Given the description of an element on the screen output the (x, y) to click on. 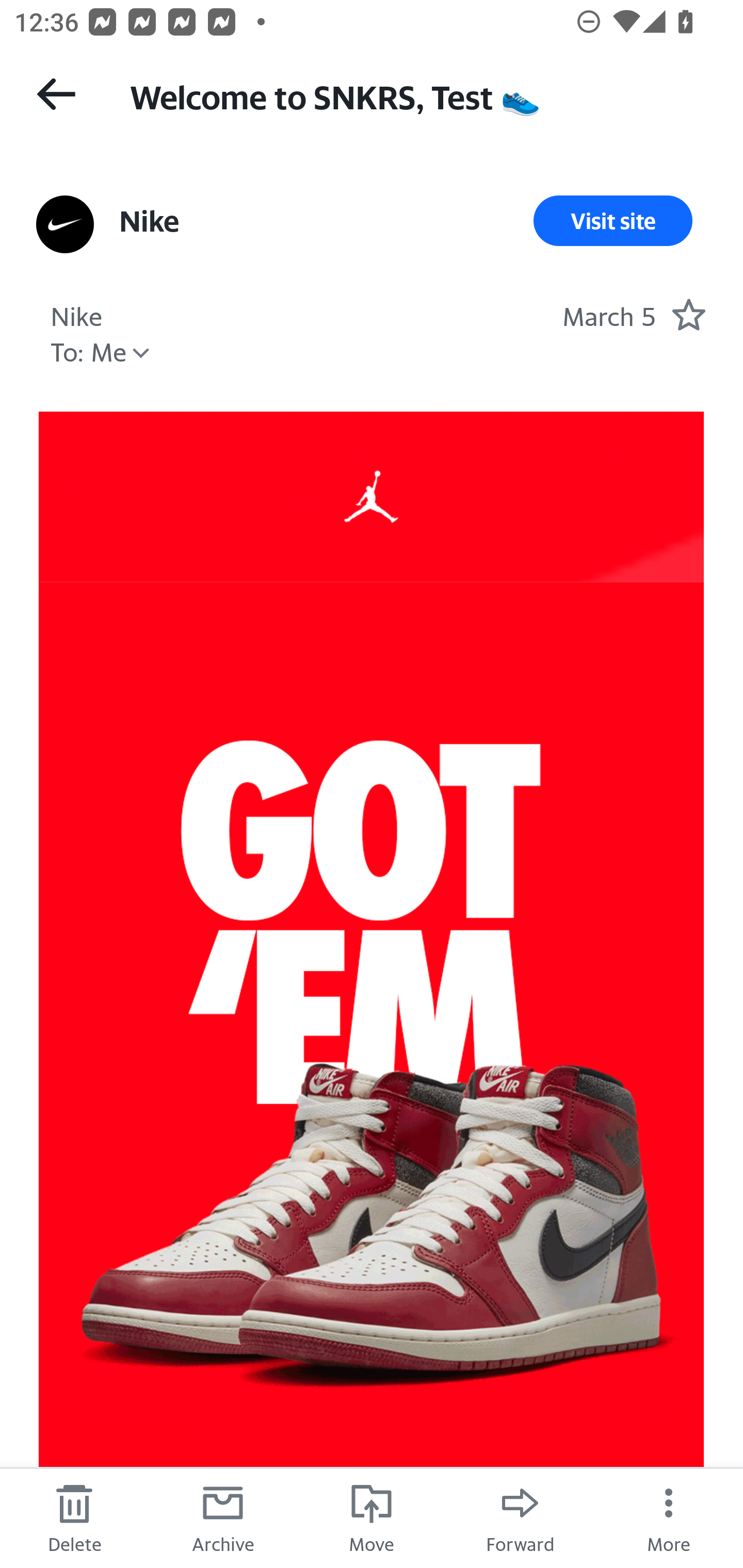
Back (55, 93)
Welcome to SNKRS, Test 👟  (418, 94)
View all messages from sender (64, 225)
Visit site Visit Site Link (612, 221)
Nike Sender Nike (148, 220)
Nike Sender Nike (76, 314)
Mark as starred. (688, 314)
Delete (74, 1517)
Archive (222, 1517)
Move (371, 1517)
Forward (519, 1517)
More (668, 1517)
